Given the description of an element on the screen output the (x, y) to click on. 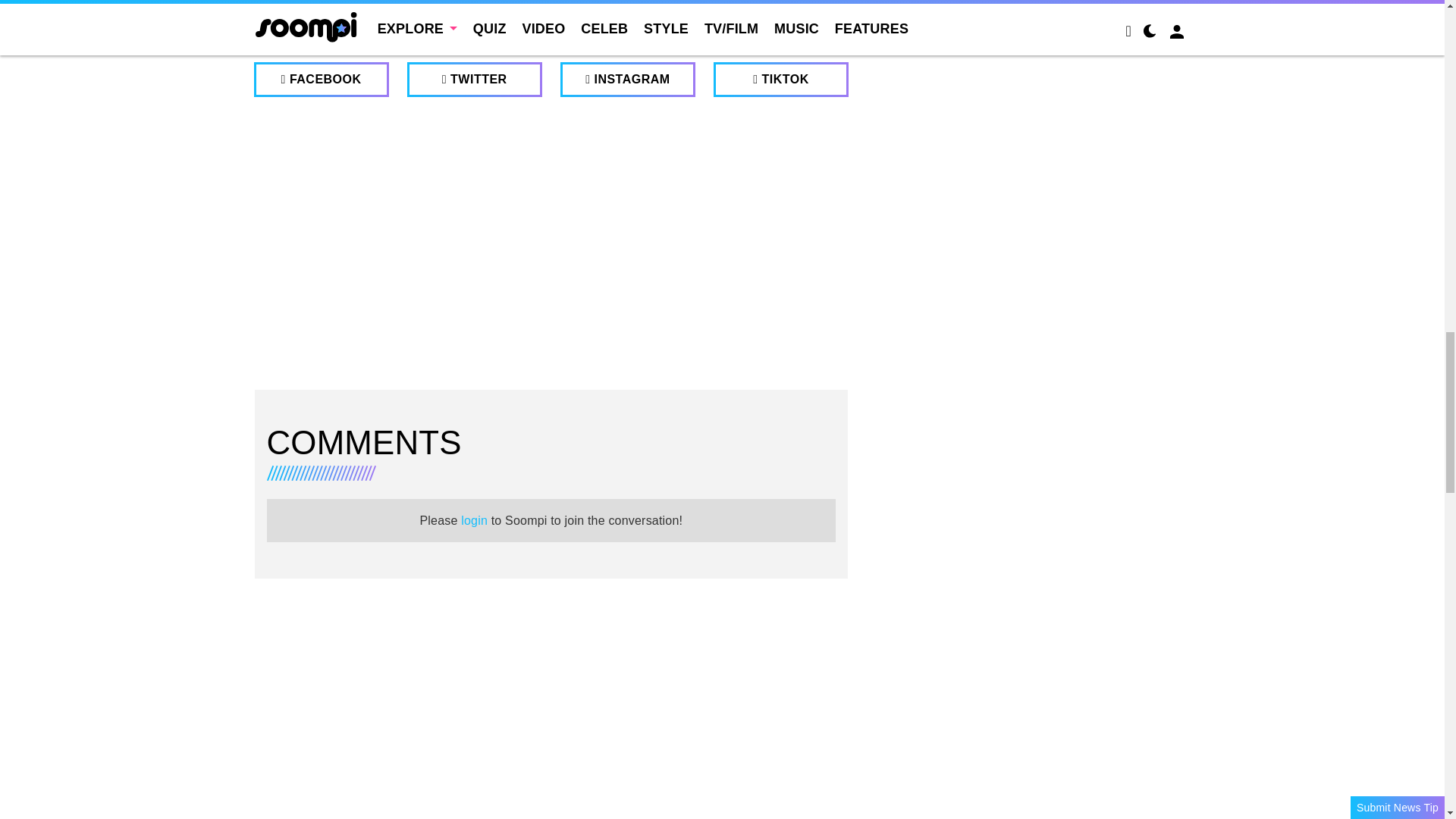
FACEBOOK (320, 79)
TWITTER (474, 79)
